Given the description of an element on the screen output the (x, y) to click on. 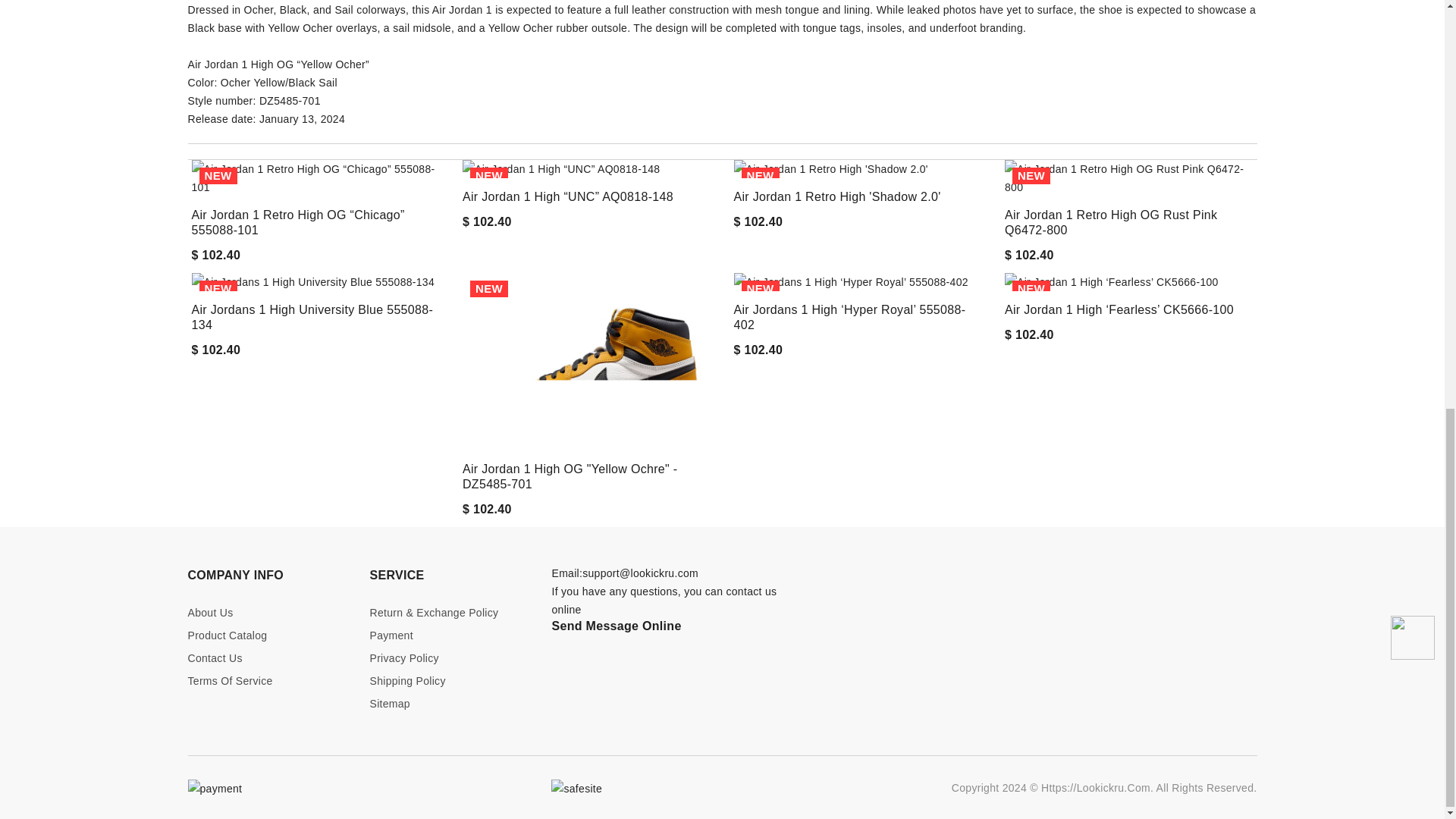
Contact us (267, 657)
About Us (267, 612)
Product catalog (267, 635)
